Given the description of an element on the screen output the (x, y) to click on. 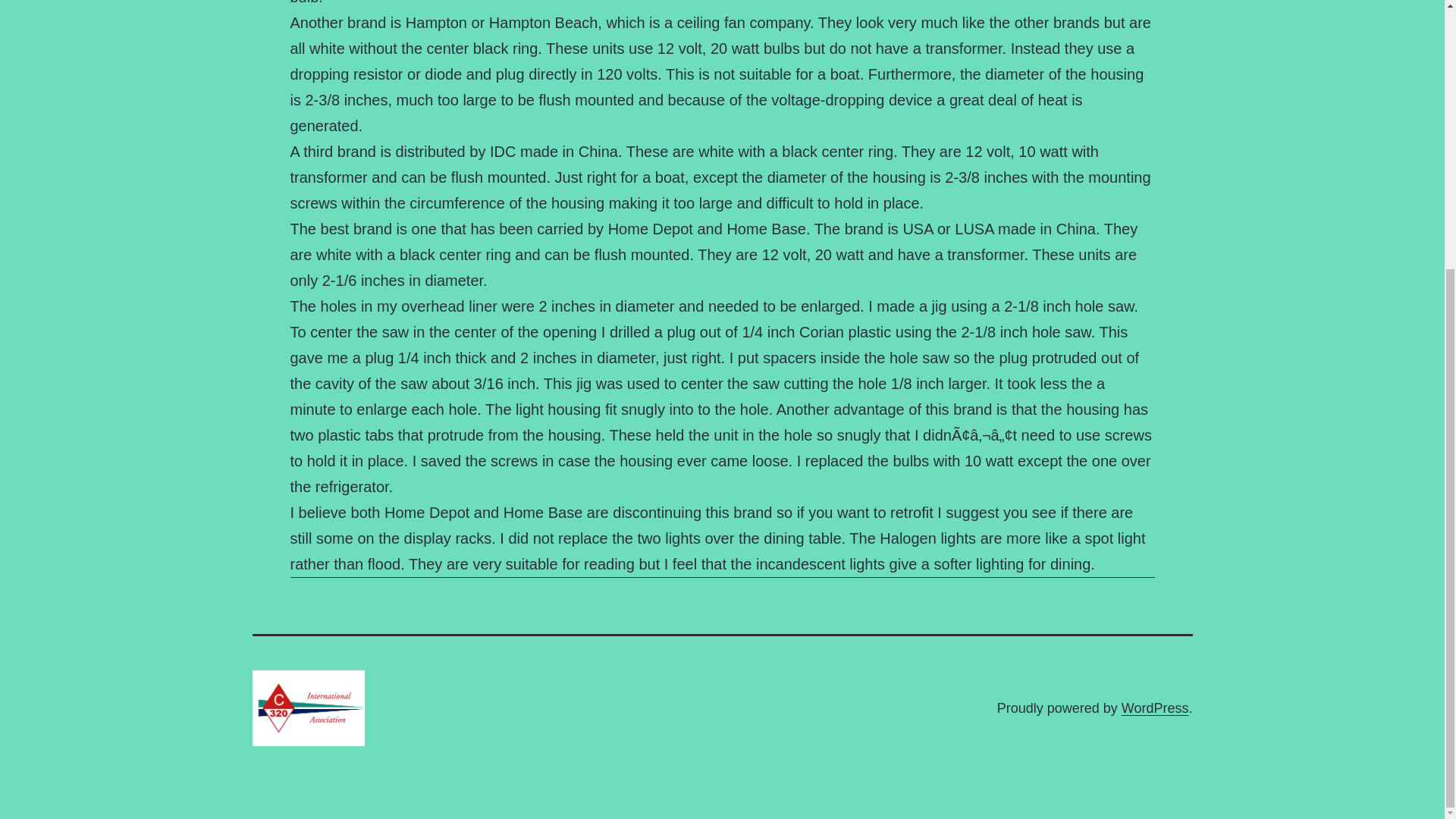
WordPress (1155, 708)
